Given the description of an element on the screen output the (x, y) to click on. 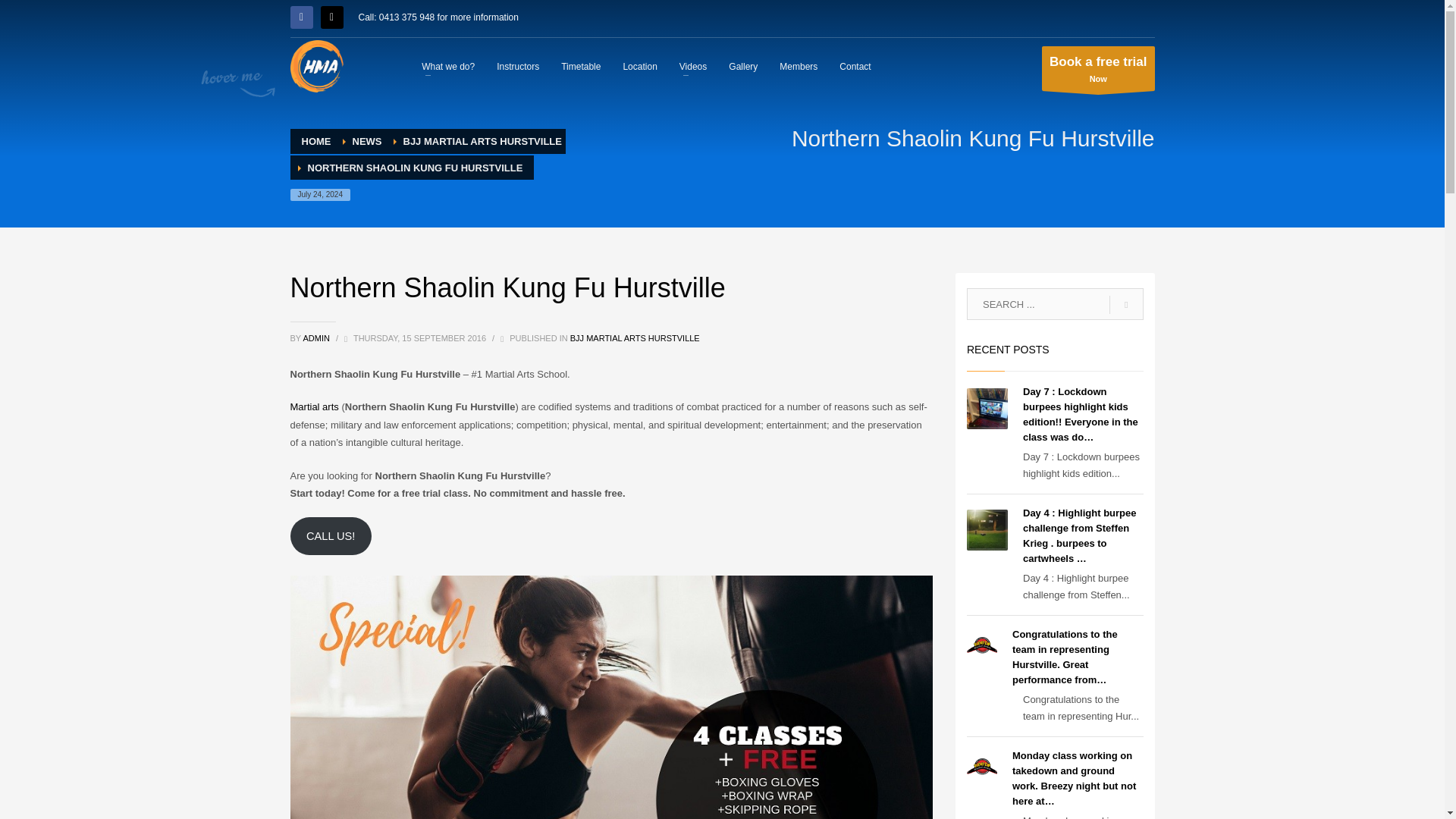
Timetable (580, 66)
Videos (1098, 67)
BJJ MARTIAL ARTS HURSTVILLE (692, 66)
ADMIN (482, 141)
Martial arts (316, 338)
NEWS (313, 406)
What we do? (366, 141)
Contact (447, 66)
News (854, 66)
Gallery (366, 141)
Instagram (743, 66)
Book Now (331, 16)
Instructors (1098, 67)
Members (517, 66)
